Given the description of an element on the screen output the (x, y) to click on. 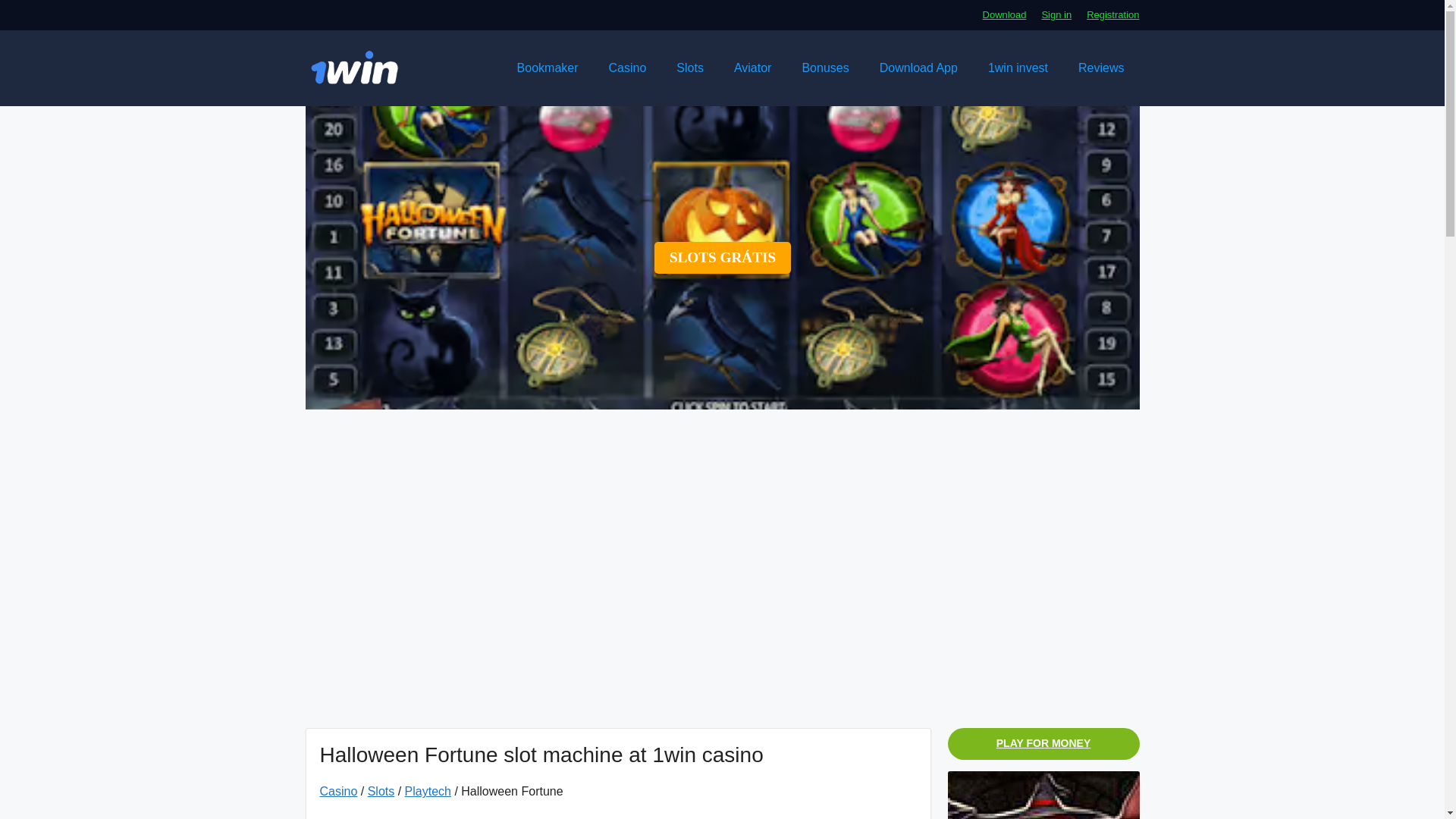
Registration (1112, 14)
Reviews (1100, 67)
PLAY FOR MONEY (1043, 744)
Playtech (427, 790)
Slots (690, 67)
Casino (339, 790)
Bookmaker (548, 67)
Sign in (1056, 14)
Download (1004, 14)
Casino (628, 67)
